Given the description of an element on the screen output the (x, y) to click on. 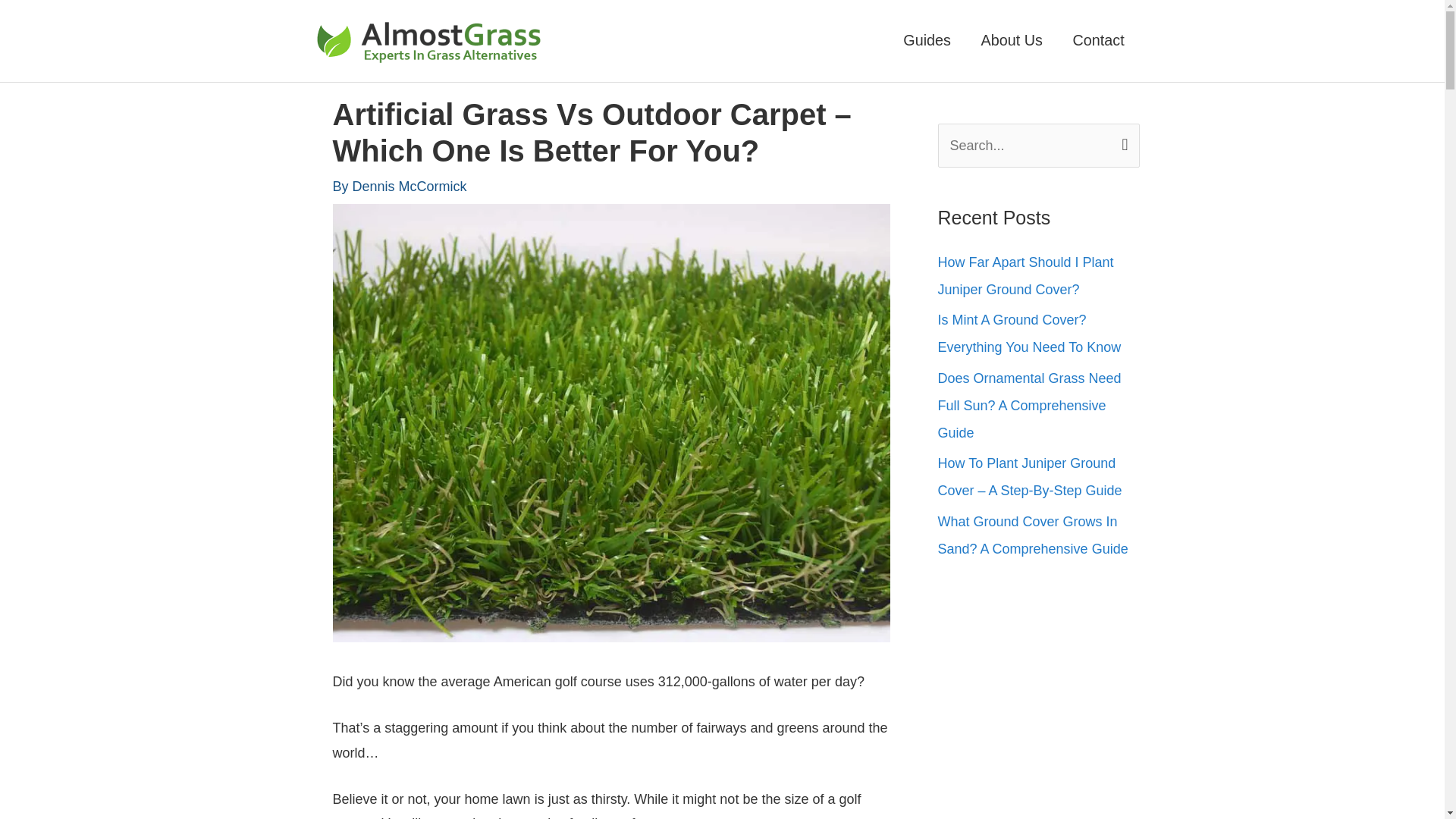
Guides (926, 40)
How Far Apart Should I Plant Juniper Ground Cover? (1025, 275)
What Ground Cover Grows In Sand? A Comprehensive Guide (1031, 535)
Dennis McCormick (409, 186)
Does Ornamental Grass Need Full Sun? A Comprehensive Guide (1029, 405)
Contact (1099, 40)
About Us (1012, 40)
View all posts by Dennis McCormick (409, 186)
Is Mint A Ground Cover? Everything You Need To Know (1029, 333)
